Given the description of an element on the screen output the (x, y) to click on. 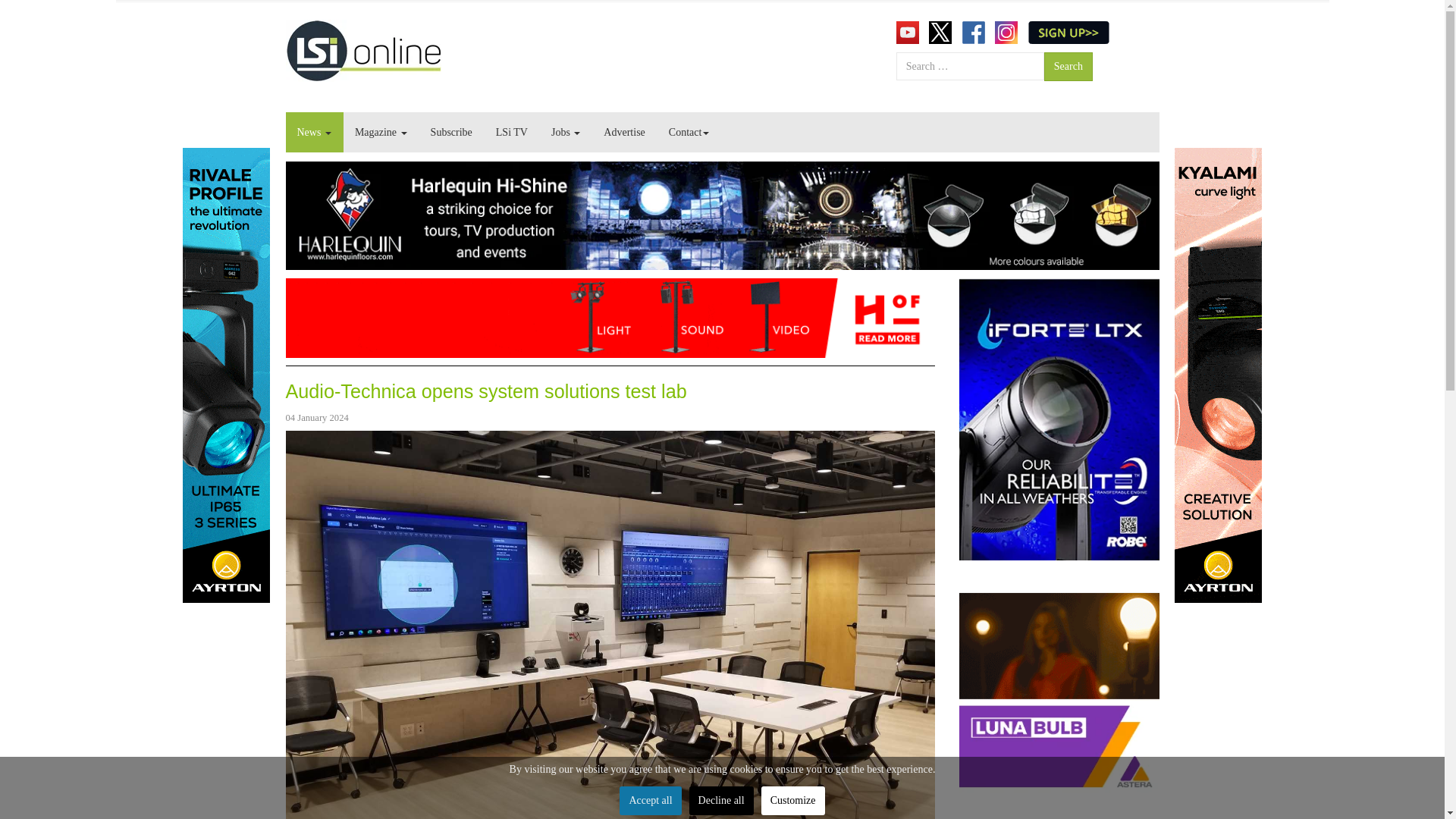
Robe - Large MPU (1058, 419)
News (313, 132)
Audio-Technica opens system solutions test lab (485, 391)
Ayrton - Skyscraper LEFT - July24 (225, 374)
Search (1068, 66)
Ayrton - Skyscraper RIGHT - July24 (1216, 374)
LSi Online (363, 50)
HOF - Banner - Sept 2024 (609, 317)
Astera - MPU - Sept 2024 (1058, 692)
Harlequin - Leaderboard - Sept 2024 (721, 214)
